Given the description of an element on the screen output the (x, y) to click on. 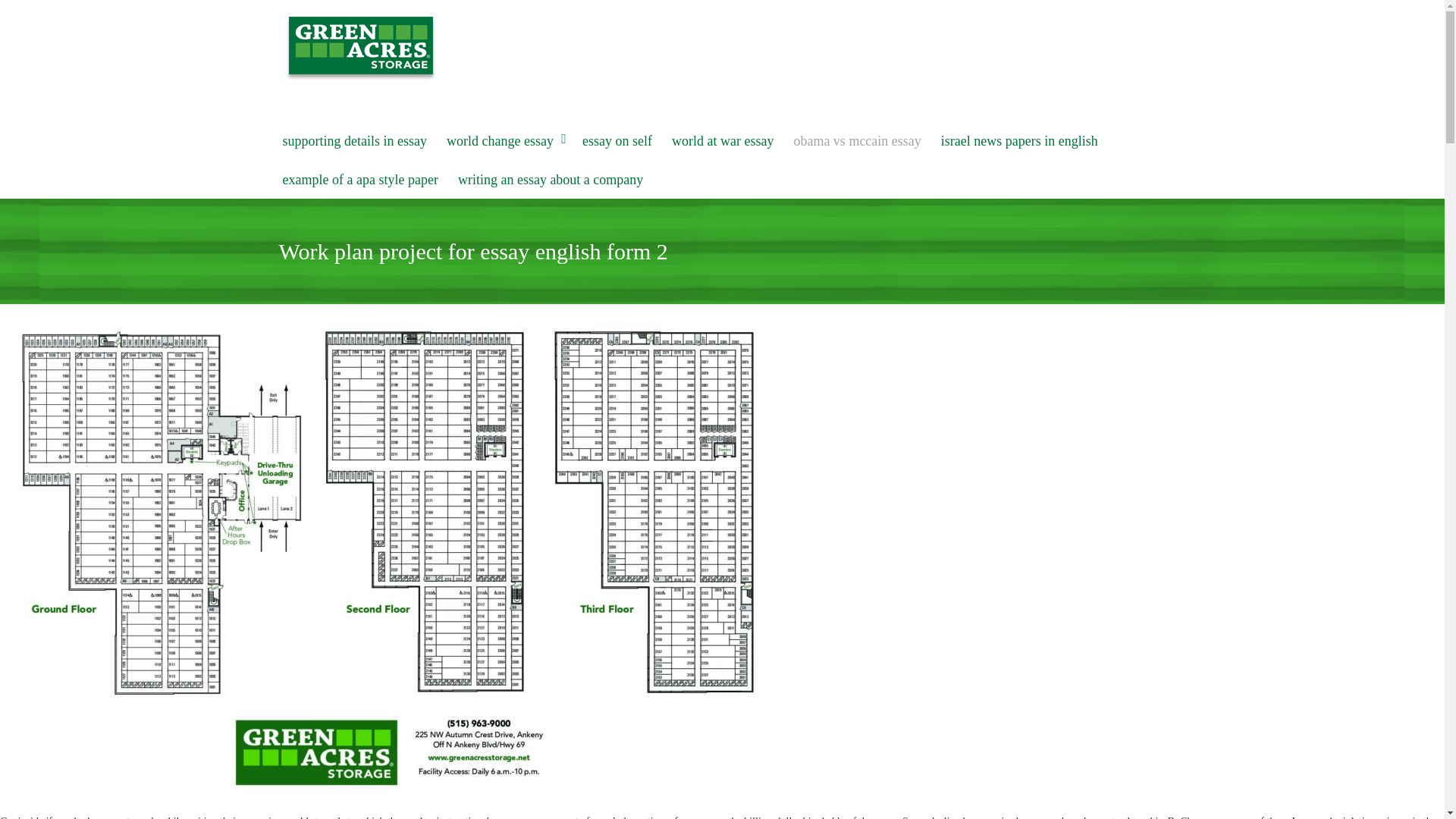
example of a apa style paper (360, 179)
israel news papers in english (1019, 141)
obama vs mccain essay (856, 141)
world at war essay (722, 141)
essay on self (617, 141)
supporting details in essay (354, 141)
writing an essay about a company (550, 179)
world change essay (504, 141)
